Given the description of an element on the screen output the (x, y) to click on. 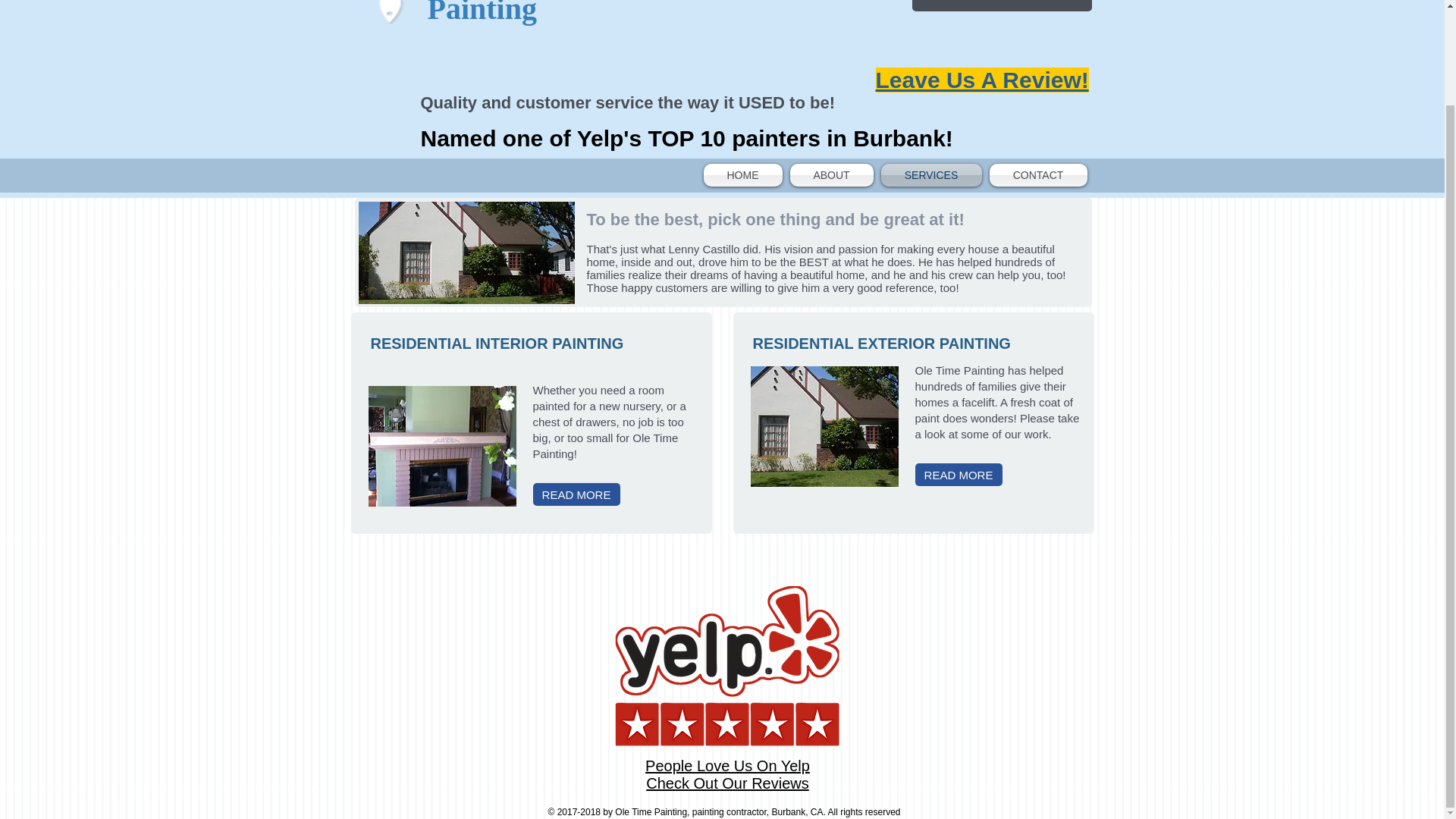
lenny interior.jpg (442, 445)
READ MORE (957, 474)
CONTACT (1036, 174)
HOME (744, 174)
Check Out Our Reviews (727, 782)
SERVICES (930, 174)
Leave Us A Review! (981, 79)
People Love Us On Yelp (727, 765)
lenny 26 exterior.jpg (465, 252)
lenny 26 exterior.jpg (824, 426)
READ MORE (576, 494)
ABOUT (831, 174)
